Given the description of an element on the screen output the (x, y) to click on. 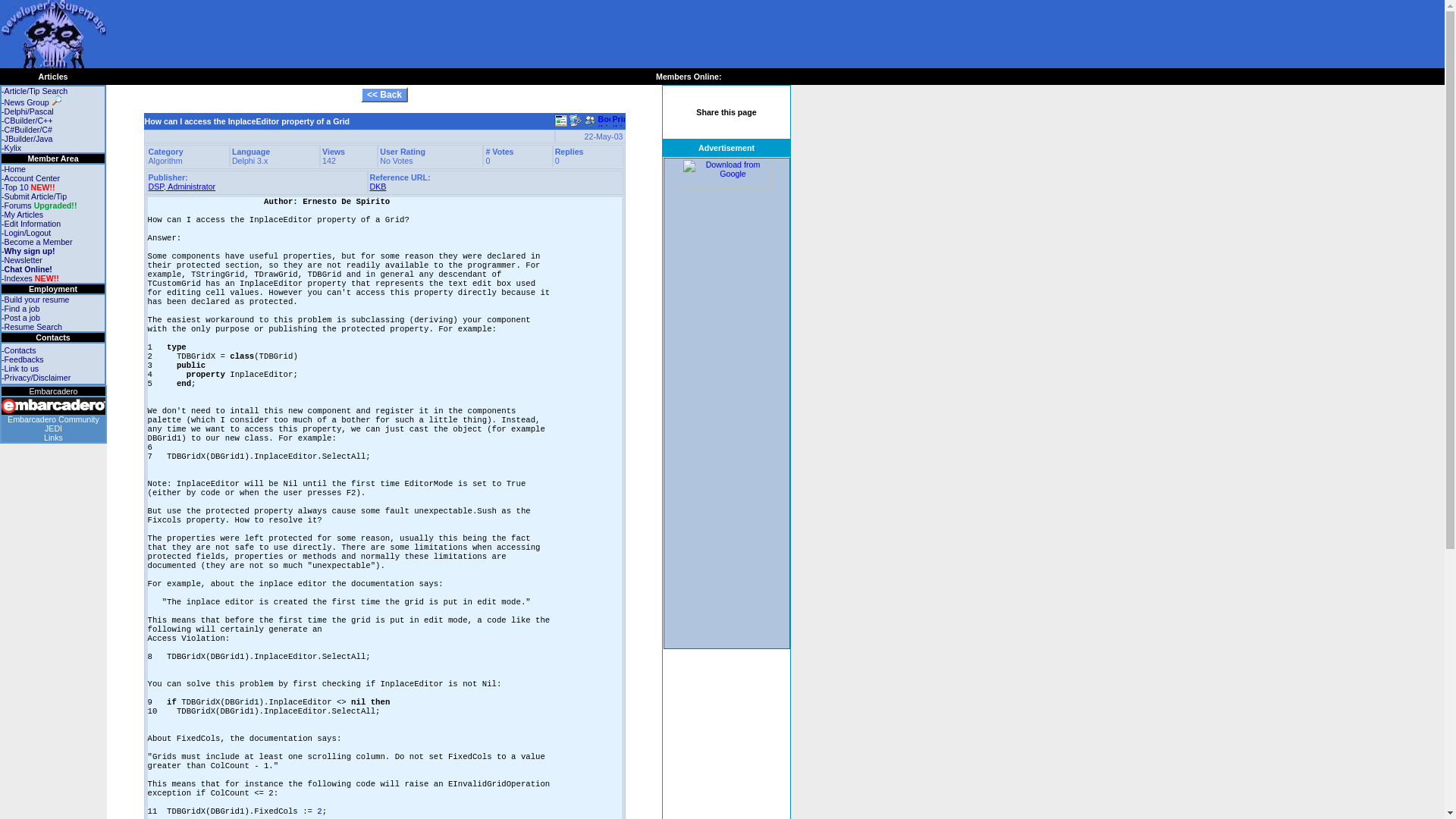
Resume Search (33, 326)
Find a job (22, 307)
Search over 21 Million news group articles. (55, 100)
Edit Information (32, 223)
Become a Member (38, 241)
News Group (32, 102)
JEDI (53, 428)
NEW!! (46, 277)
Home (15, 168)
Search over 21 Million news group articles. (32, 102)
